Given the description of an element on the screen output the (x, y) to click on. 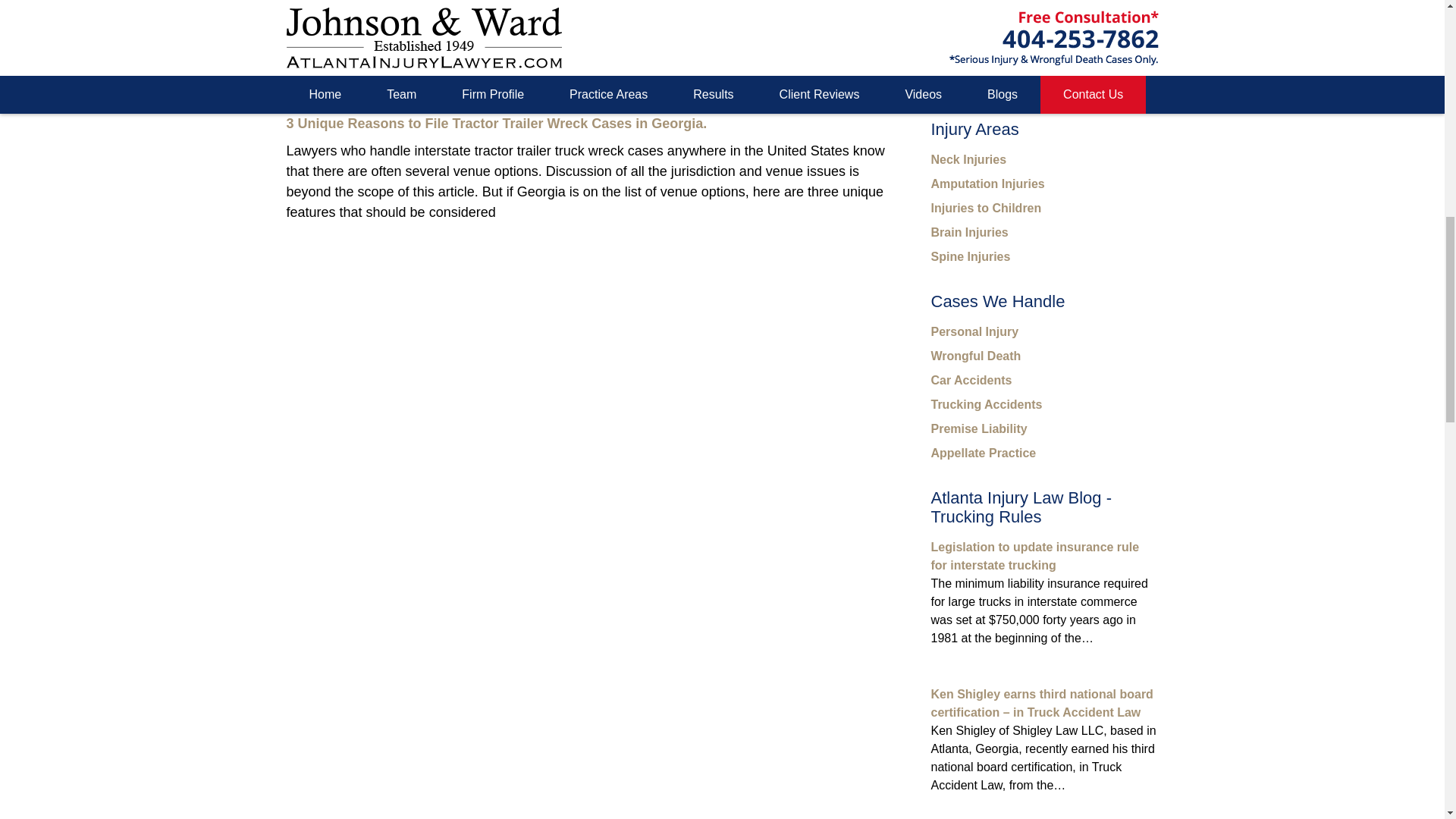
CONTACT US NOW (1044, 55)
disclaimer (977, 18)
Jackson et al v. Sluder (359, 14)
I agree to the ethical disclaimer for use of this web site (937, 3)
Injury Areas (975, 128)
